Given the description of an element on the screen output the (x, y) to click on. 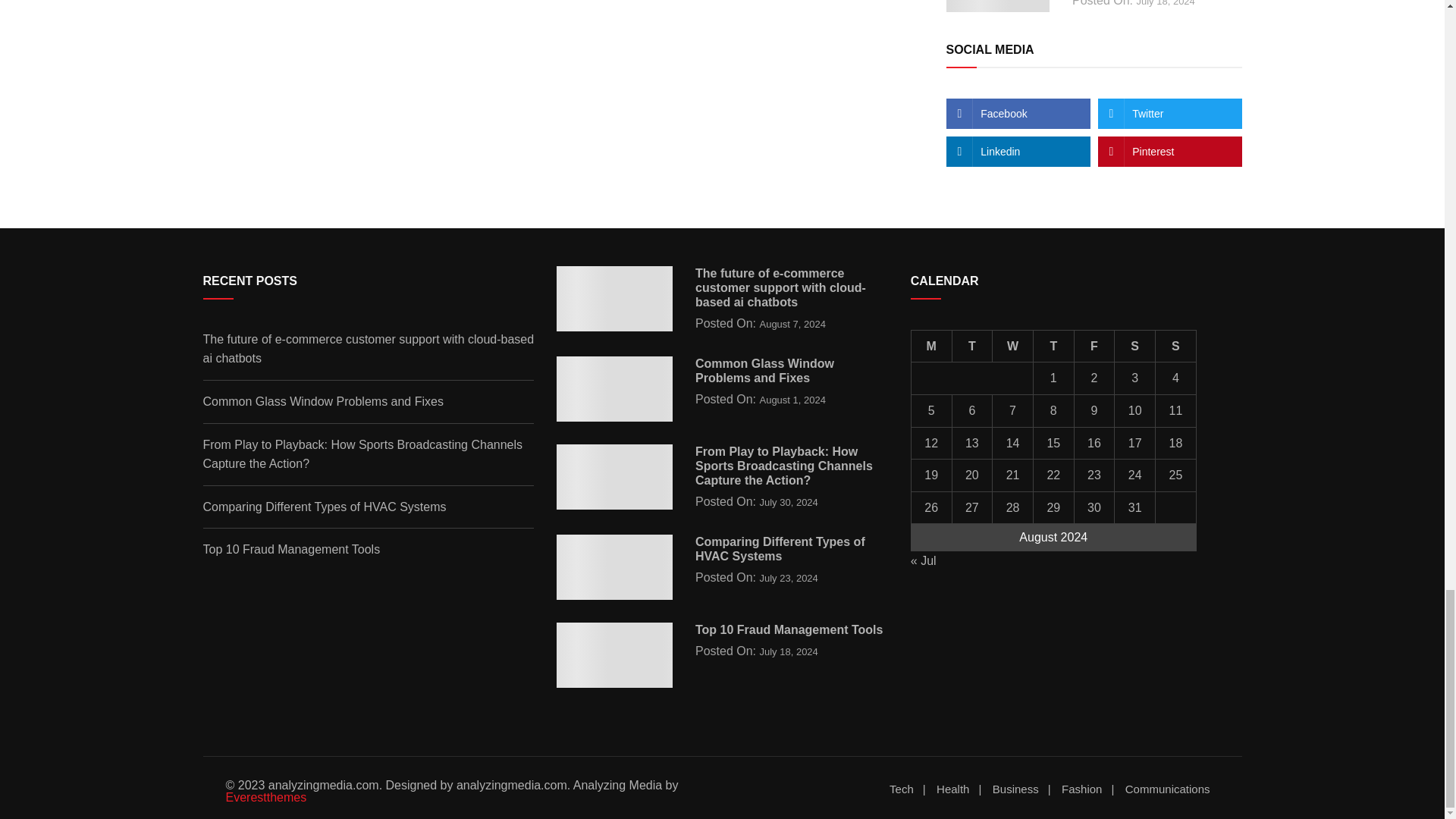
Sunday (1176, 346)
Thursday (1053, 346)
Wednesday (1012, 346)
Saturday (1135, 346)
Monday (931, 346)
Tuesday (972, 346)
Friday (1094, 346)
